Given the description of an element on the screen output the (x, y) to click on. 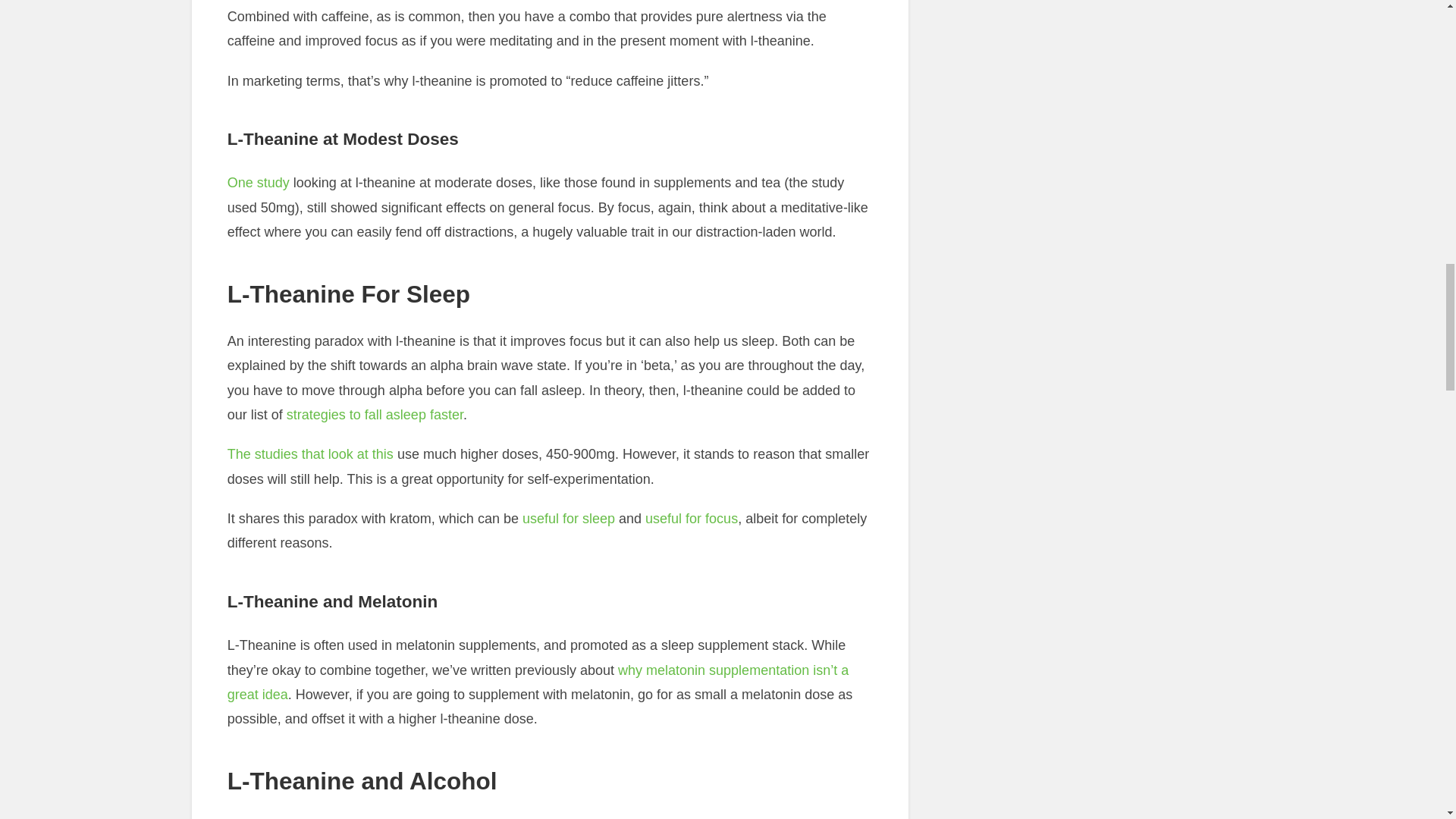
useful for sleep (568, 518)
strategies to fall asleep faster (374, 414)
useful for focus (691, 518)
The studies that look at this (310, 453)
One study (258, 182)
